Given the description of an element on the screen output the (x, y) to click on. 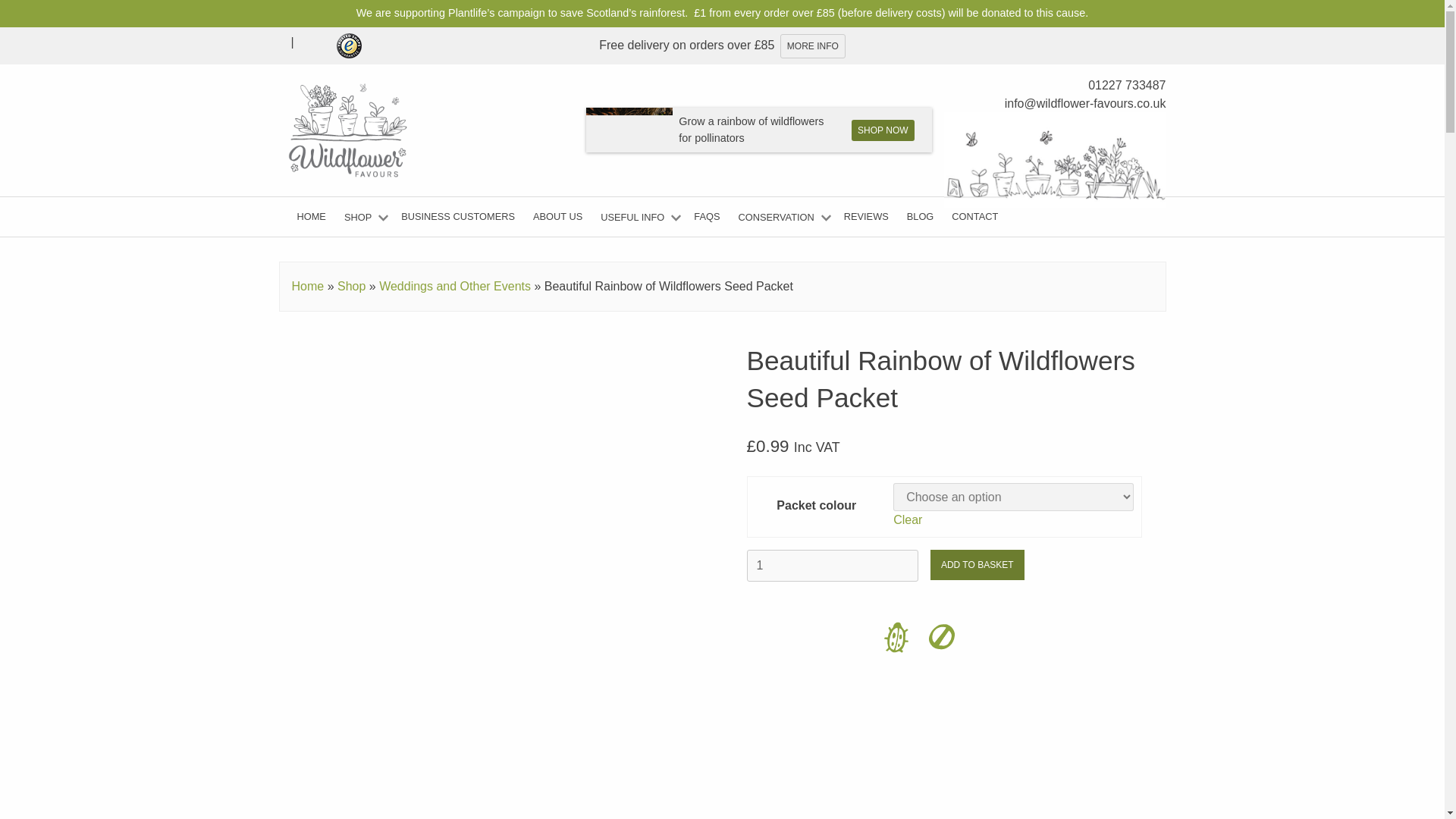
SHOP NOW (882, 129)
1 (831, 565)
01227 733487 (1126, 85)
MORE INFO (812, 46)
